Given the description of an element on the screen output the (x, y) to click on. 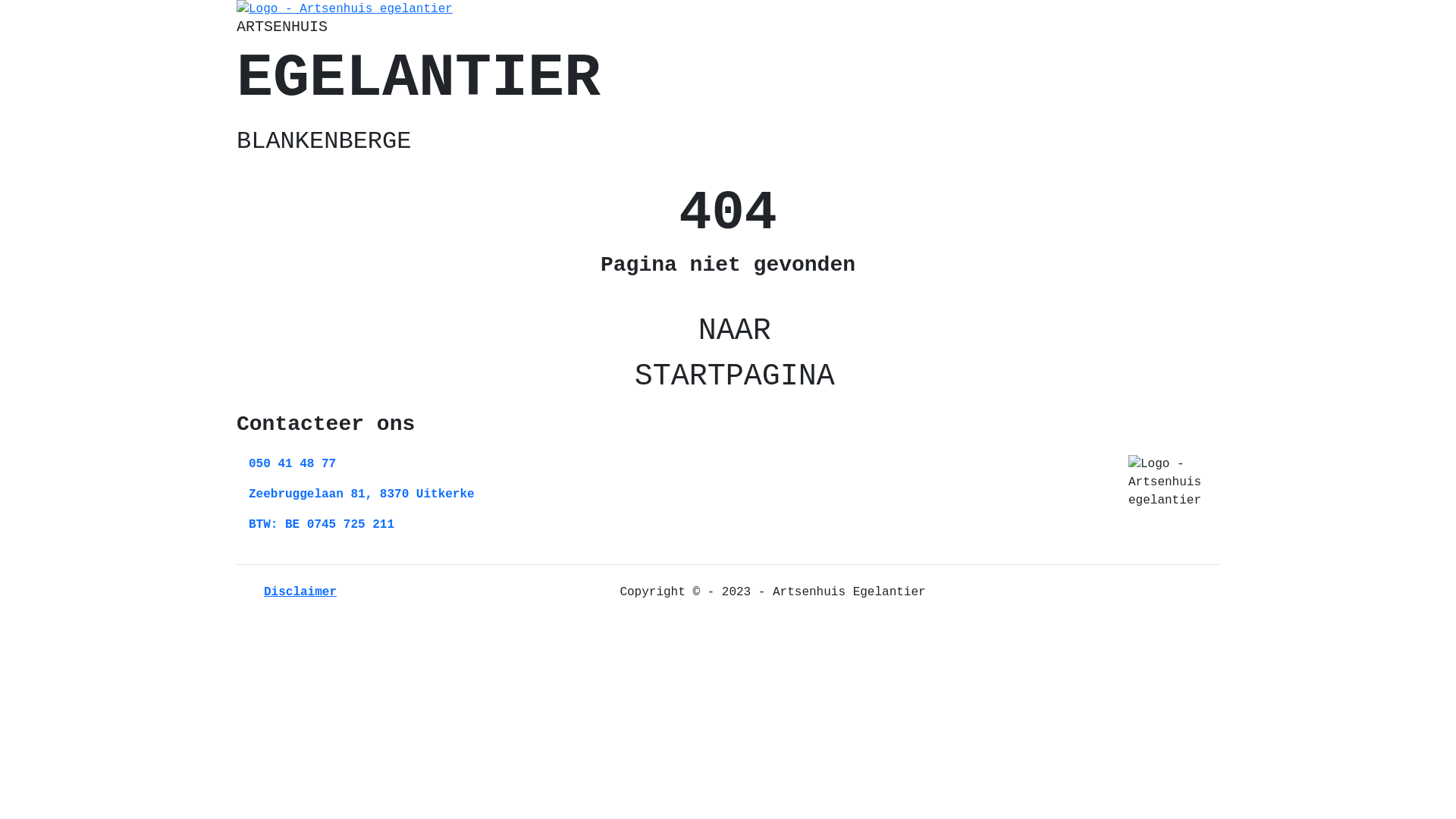
NAAR STARTPAGINA Element type: text (727, 353)
Westsite: Online Oplossingen en Webdesign Element type: hover (1213, 591)
Zeebruggelaan 81, 8370 Uitkerke Element type: text (361, 494)
Disclaimer Element type: text (286, 592)
050 41 48 77 Element type: text (291, 464)
